Given the description of an element on the screen output the (x, y) to click on. 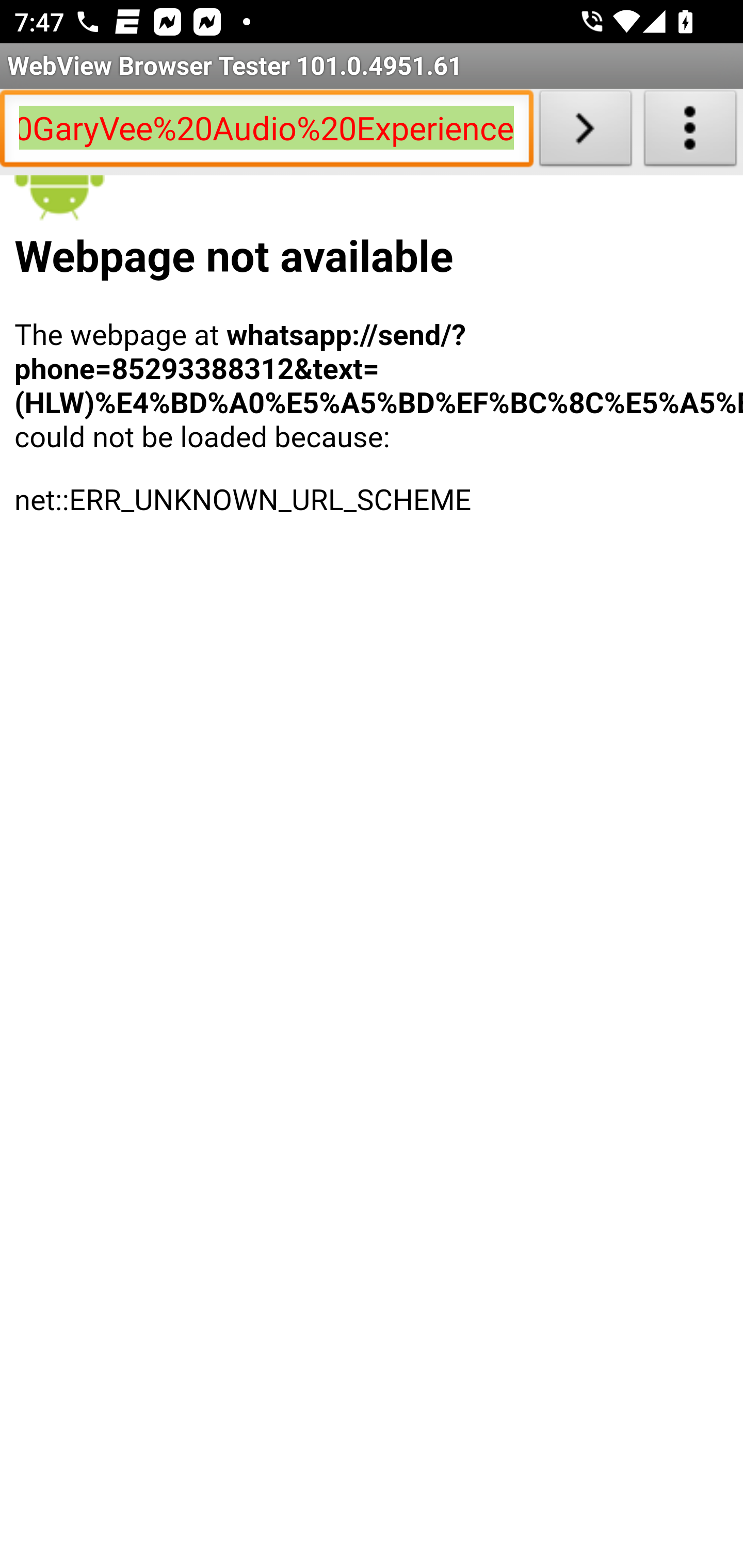
Load URL (585, 132)
About WebView (690, 132)
